Given the description of an element on the screen output the (x, y) to click on. 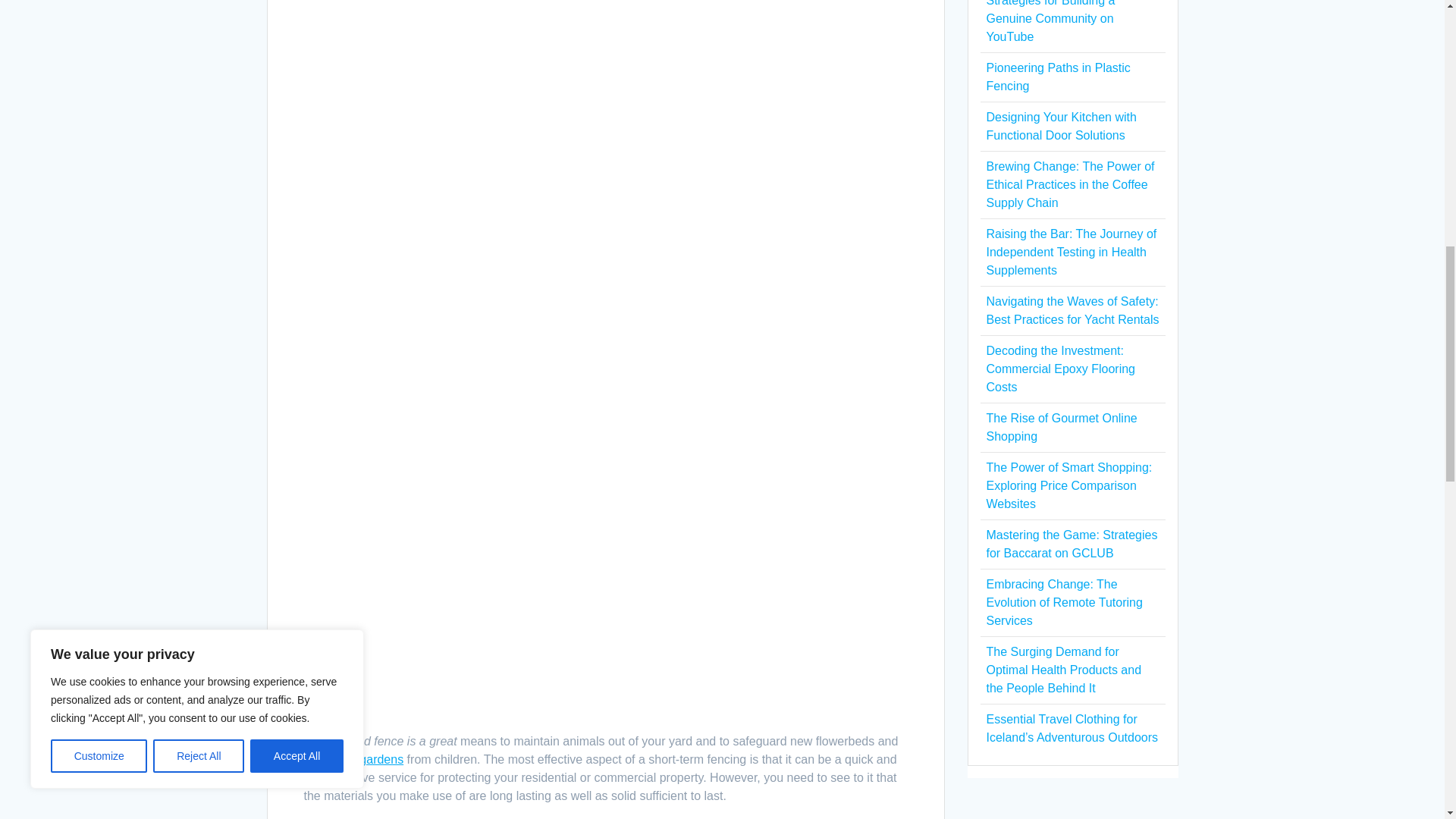
Strategies for Building a Genuine Community on YouTube (1050, 21)
vegetable gardens (352, 758)
Pioneering Paths in Plastic Fencing (1057, 76)
Designing Your Kitchen with Functional Door Solutions (1060, 125)
